Given the description of an element on the screen output the (x, y) to click on. 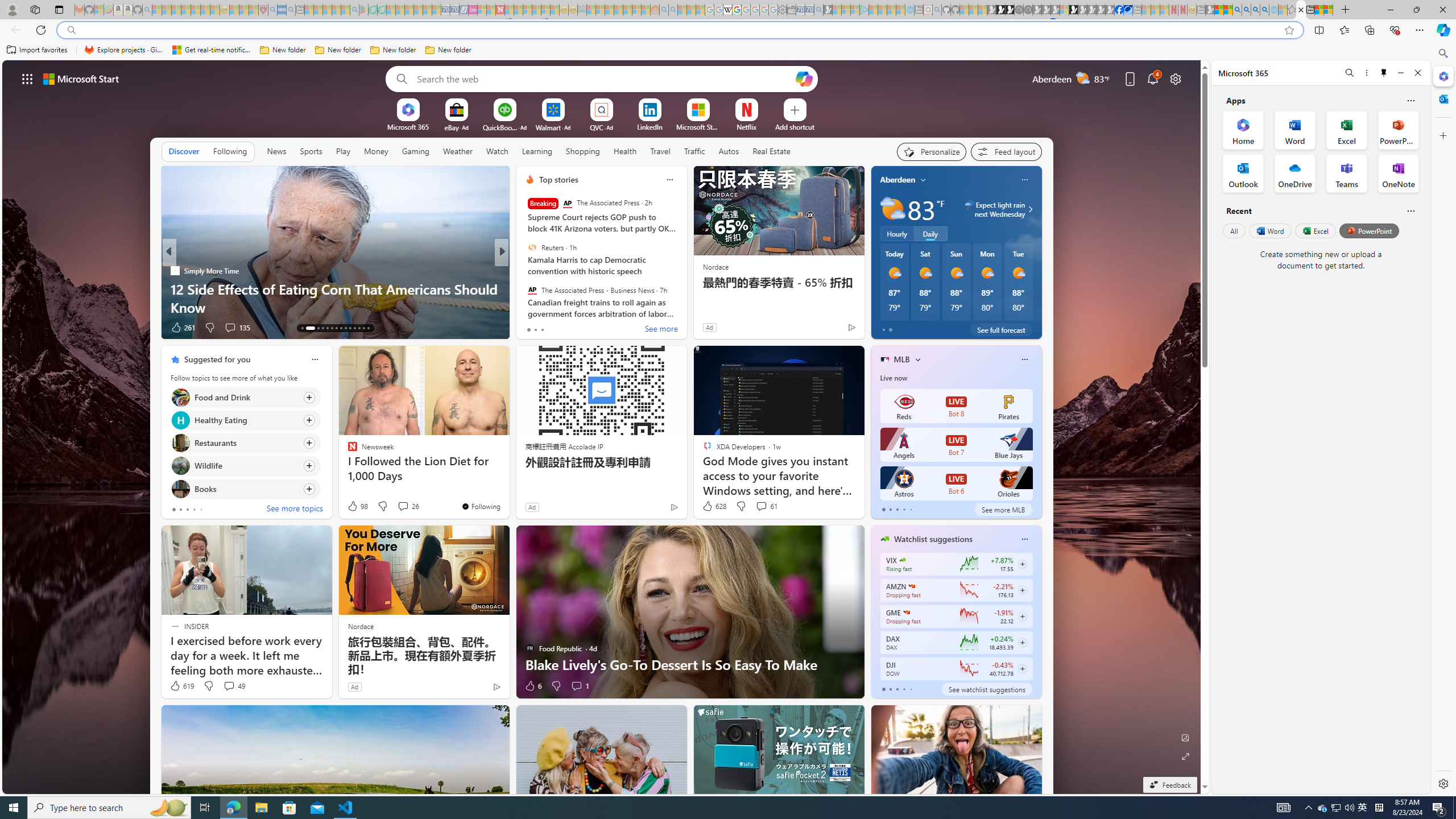
You're following Newsweek (480, 505)
OneNote Office App (1398, 172)
utah sues federal government - Search - Sleeping (290, 9)
Edit Background (1185, 737)
My location (922, 179)
View comments 67 Comment (581, 327)
